Given the description of an element on the screen output the (x, y) to click on. 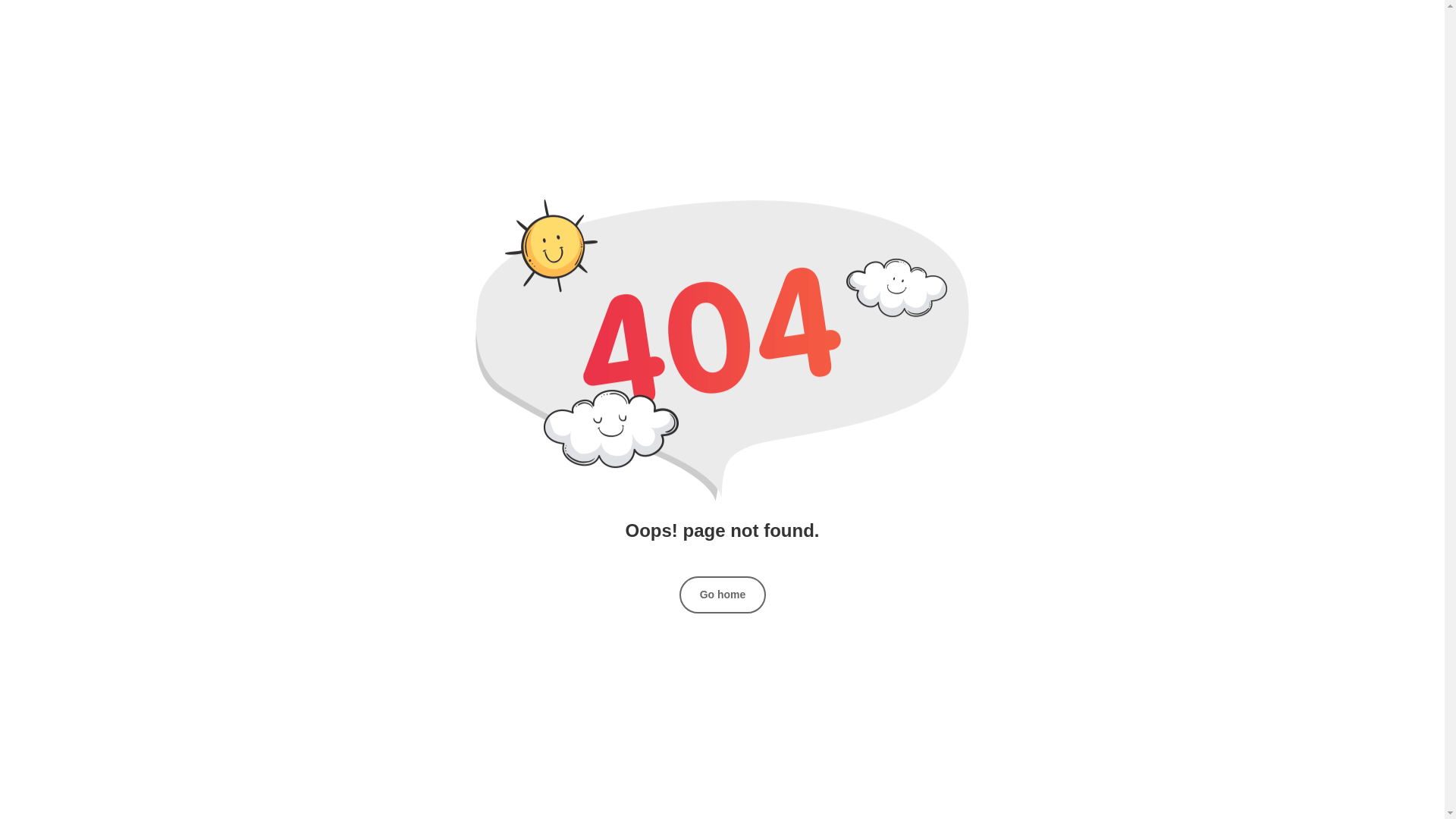
Go home (723, 594)
